Given the description of an element on the screen output the (x, y) to click on. 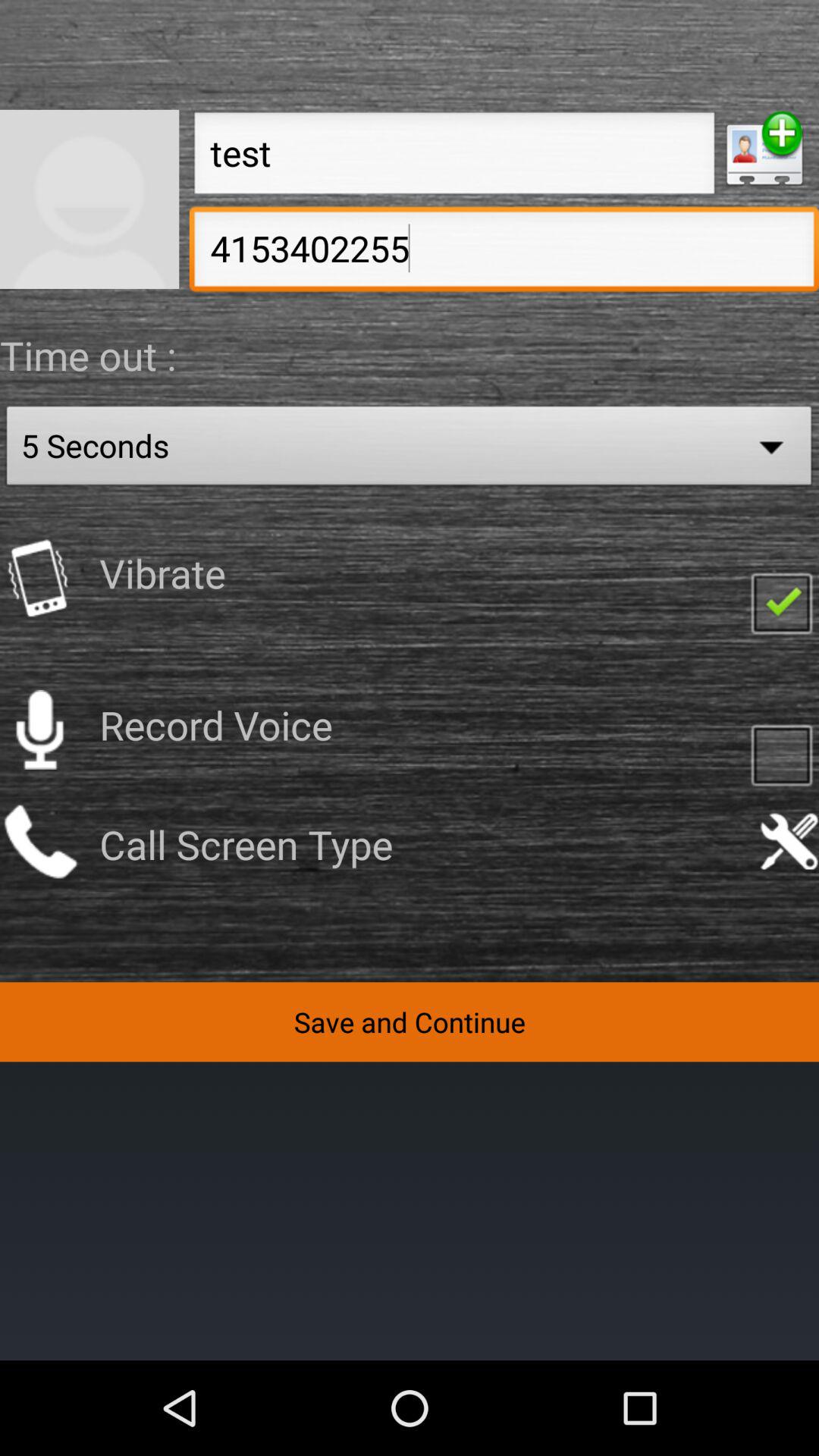
click to vibrate (39, 577)
